Given the description of an element on the screen output the (x, y) to click on. 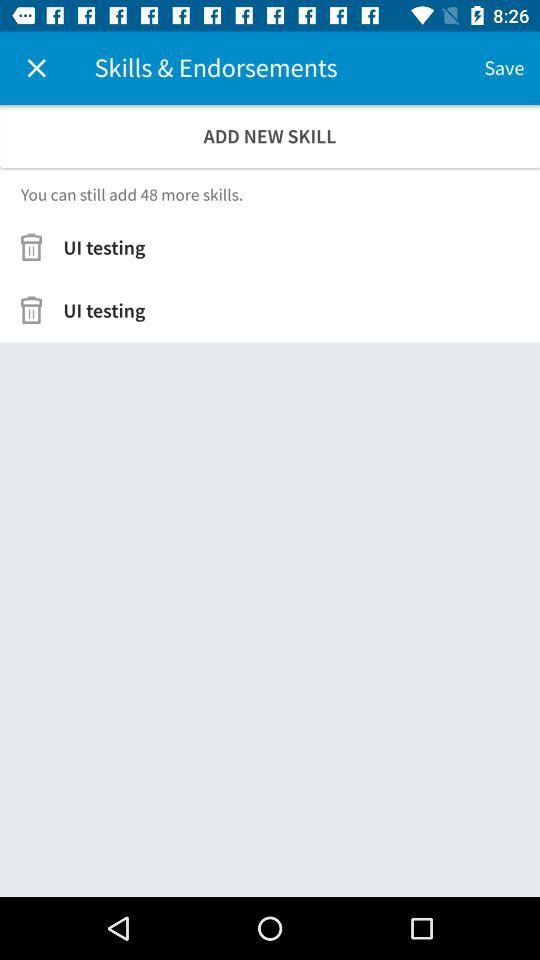
press item next to skills & endorsements item (504, 67)
